Given the description of an element on the screen output the (x, y) to click on. 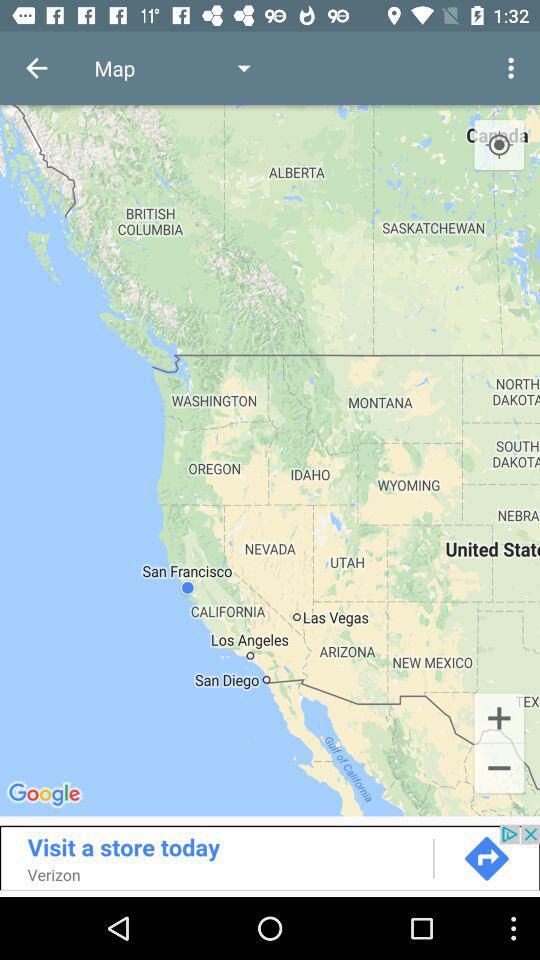
advertisement link image (270, 857)
